Given the description of an element on the screen output the (x, y) to click on. 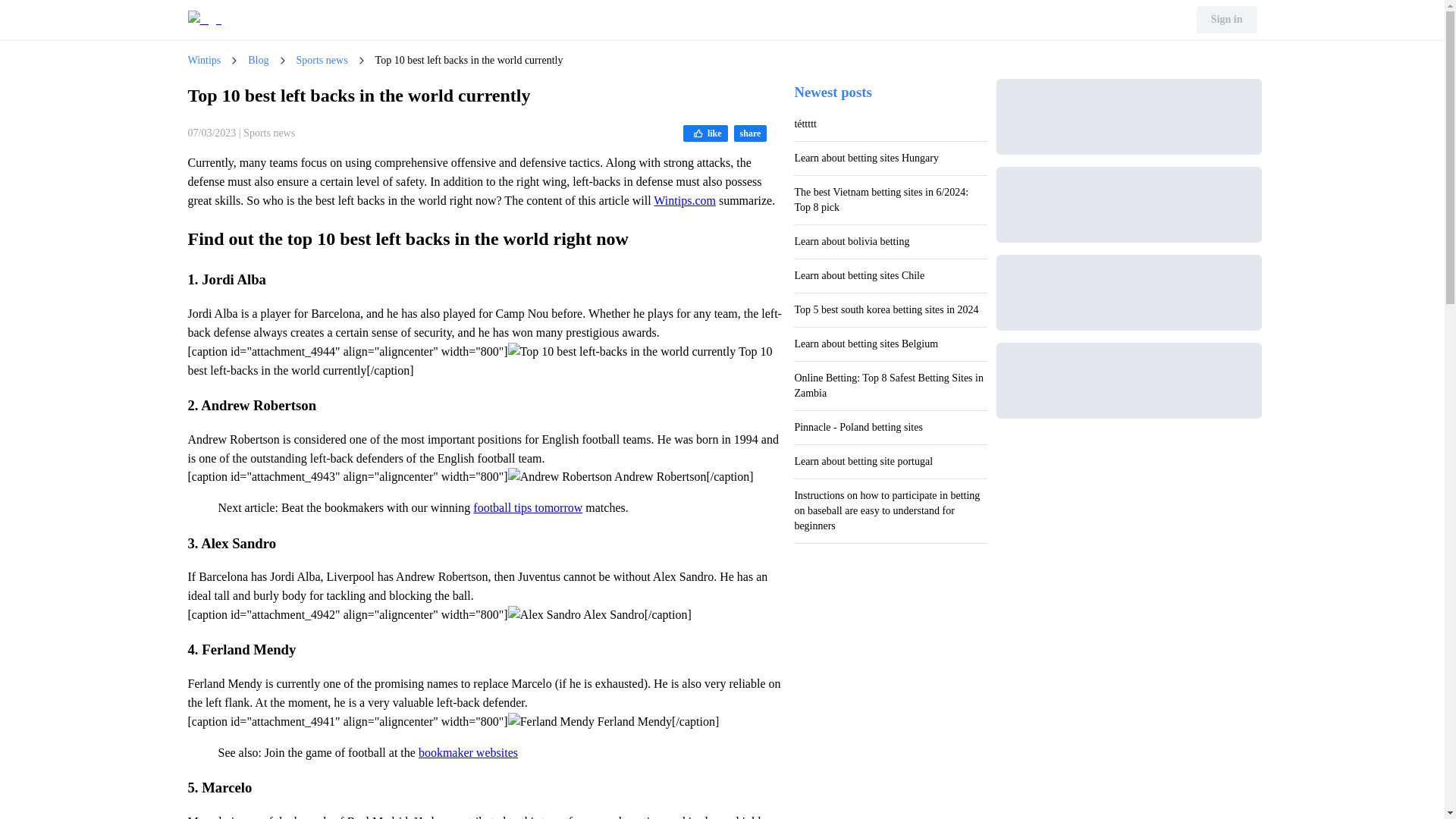
Learn about betting site portugal (890, 461)
Top 5 best south korea betting sites in 2024 (890, 309)
Learn about bolivia betting (890, 241)
Learn about betting sites Belgium (890, 344)
Sign in (1226, 19)
Sports news (322, 60)
Pinnacle - Poland betting sites (890, 427)
Learn about betting sites Hungary (890, 158)
Wintips.com (684, 200)
bookmaker websites (468, 752)
